Given the description of an element on the screen output the (x, y) to click on. 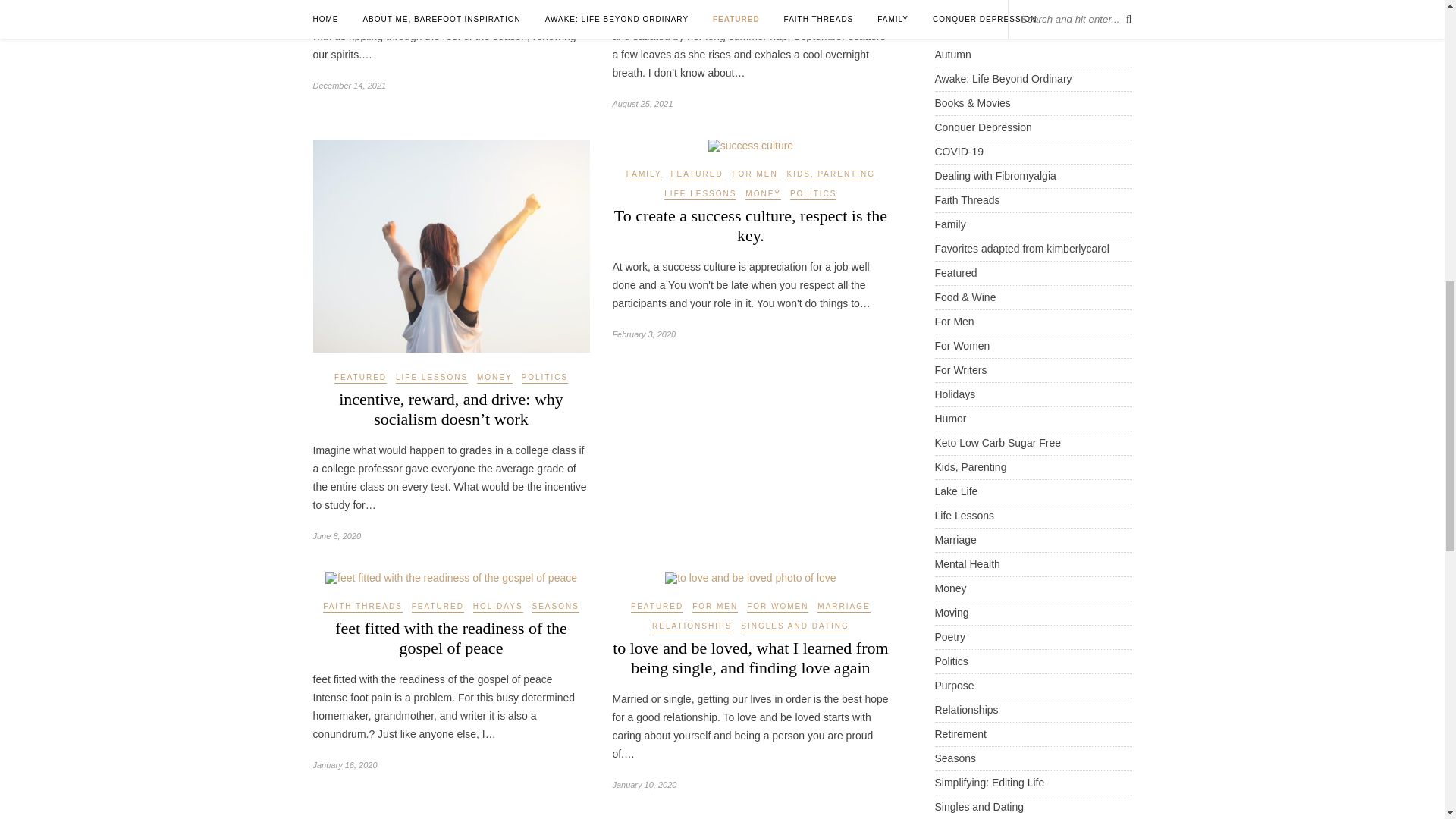
MONEY (762, 194)
POLITICS (813, 194)
MONEY (494, 378)
FEATURED (360, 378)
LIFE LESSONS (699, 194)
To create a success culture, respect is the key. (750, 225)
FOR MEN (754, 174)
FEATURED (695, 174)
FAMILY (644, 174)
View all posts in Life Lessons (431, 378)
KIDS, PARENTING (831, 174)
View all posts in Featured (360, 378)
POLITICS (545, 378)
LIFE LESSONS (431, 378)
